Given the description of an element on the screen output the (x, y) to click on. 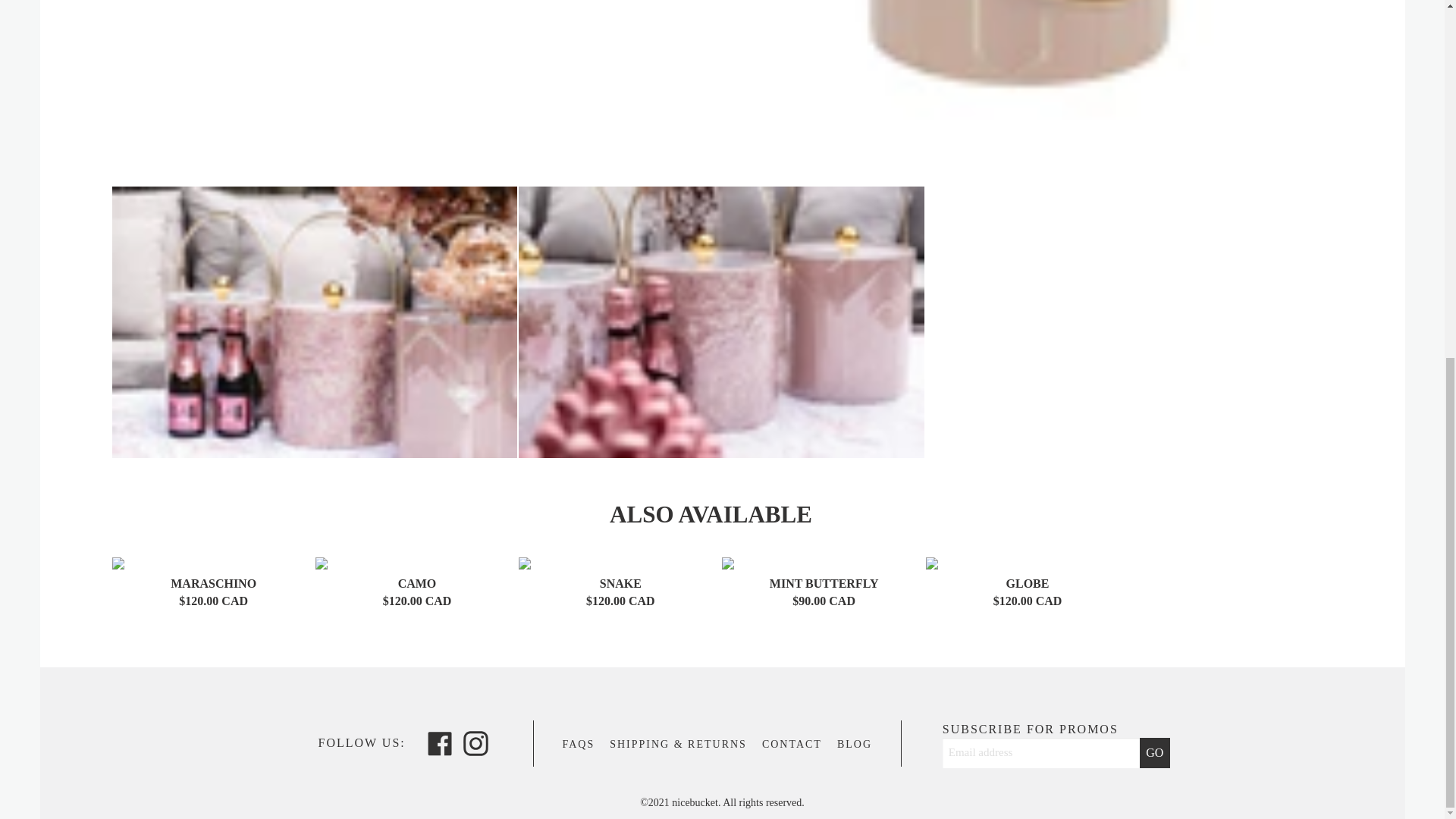
CAMO (416, 583)
MARASCHINO (213, 583)
CONTACT (791, 744)
GLOBE (1027, 583)
FAQS (440, 741)
BLOG (578, 744)
SNAKE (854, 744)
MINT BUTTERFLY (620, 583)
